Given the description of an element on the screen output the (x, y) to click on. 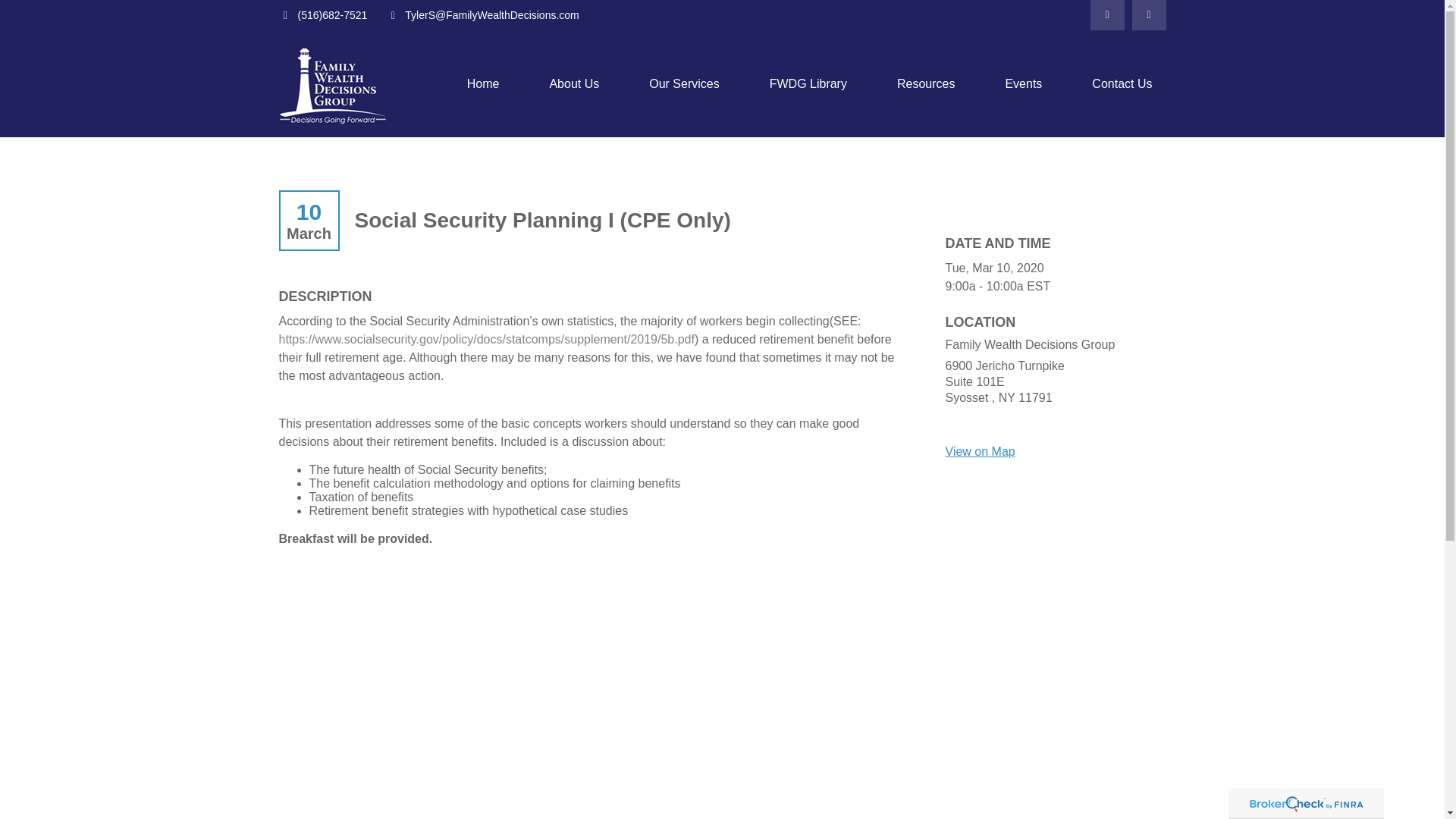
Events (1023, 83)
Home (483, 83)
About Us (574, 83)
Our Services (684, 83)
Resources (925, 83)
Contact Us (1121, 83)
FWDG Library (807, 83)
